Given the description of an element on the screen output the (x, y) to click on. 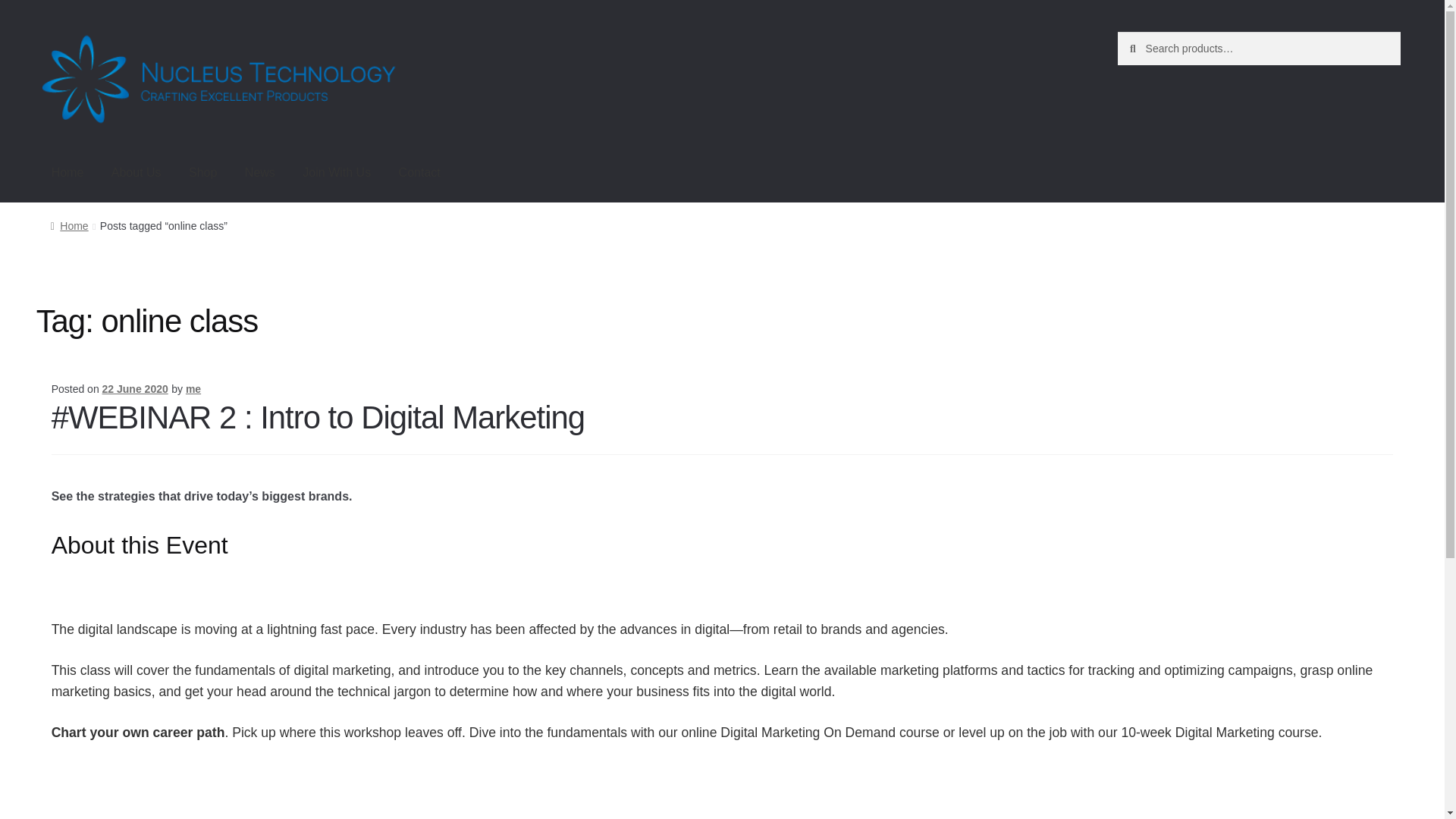
Join With Us (335, 172)
Home (67, 172)
About Us (136, 172)
News (259, 172)
Shop (202, 172)
Contact (419, 172)
